Given the description of an element on the screen output the (x, y) to click on. 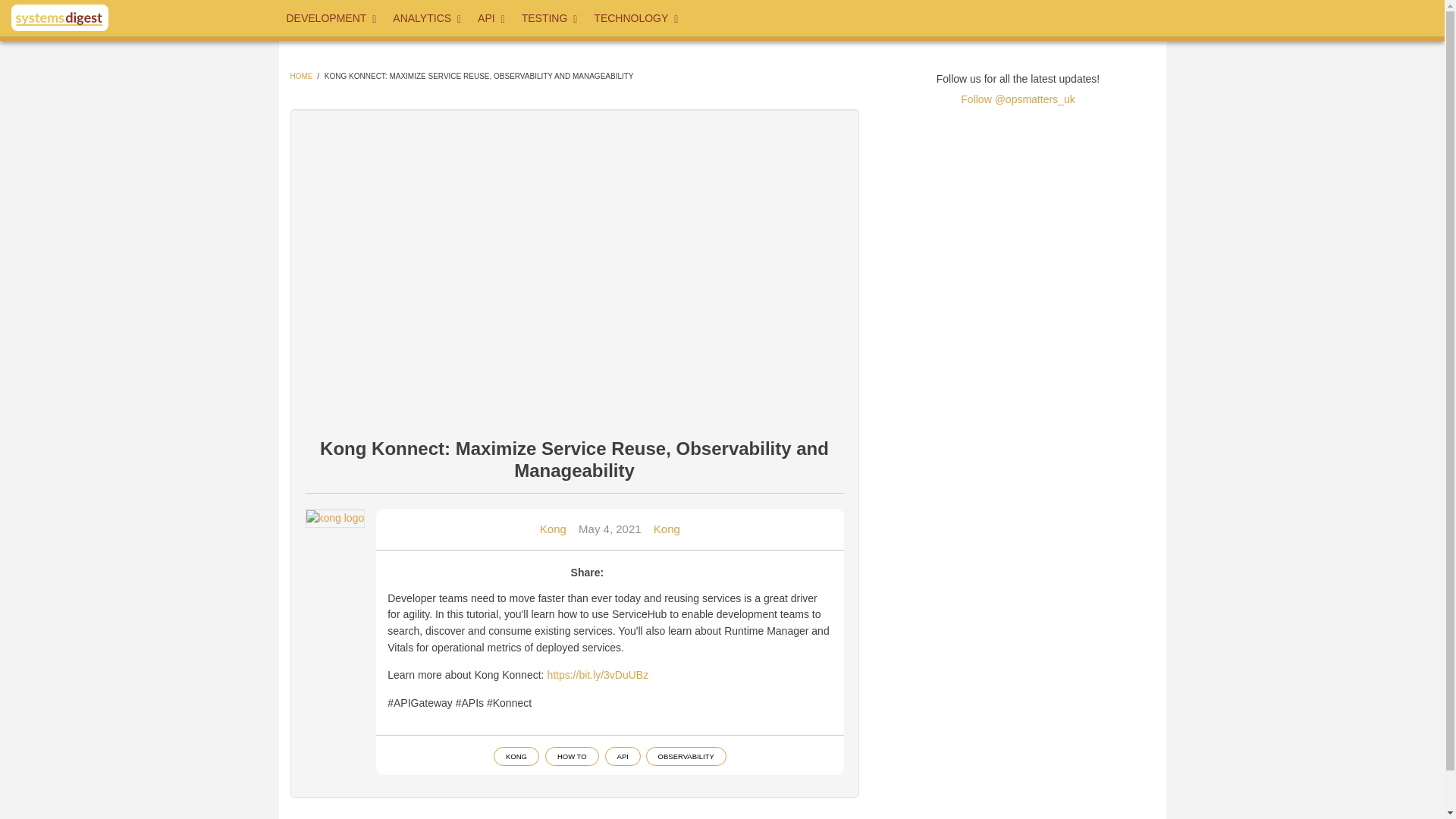
GitHub (1046, 15)
KONG (515, 756)
ANALYTICS (427, 18)
TECHNOLOGY (636, 18)
API (491, 18)
kong logo (335, 518)
Kong (666, 528)
Kong (553, 528)
facebook (949, 15)
Home (59, 17)
twitter (899, 15)
HOME (301, 76)
TESTING (549, 18)
linkedin (997, 15)
